Given the description of an element on the screen output the (x, y) to click on. 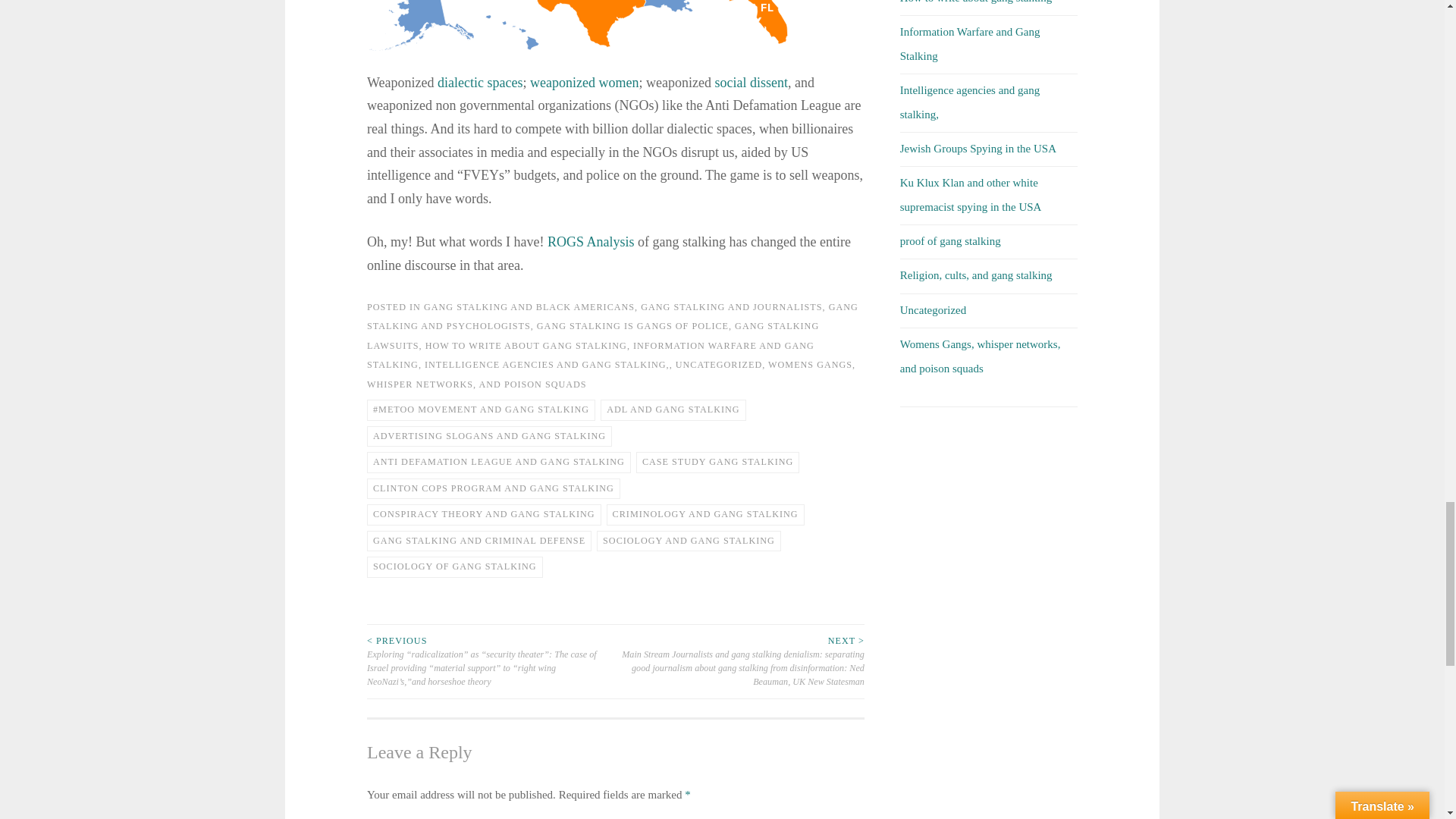
weaponized women (584, 82)
GANG STALKING LAWSUITS (592, 336)
GANG STALKING AND JOURNALISTS (731, 307)
dialectic spaces (480, 82)
ROGS Analysis (590, 241)
GANG STALKING AND BLACK AMERICANS (528, 307)
GANG STALKING AND PSYCHOLOGISTS (612, 317)
UNCATEGORIZED (718, 364)
INTELLIGENCE AGENCIES AND GANG STALKING, (547, 364)
HOW TO WRITE ABOUT GANG STALKING (526, 344)
GANG STALKING IS GANGS OF POLICE (633, 326)
social dissent (750, 82)
INFORMATION WARFARE AND GANG STALKING (589, 354)
